Given the description of an element on the screen output the (x, y) to click on. 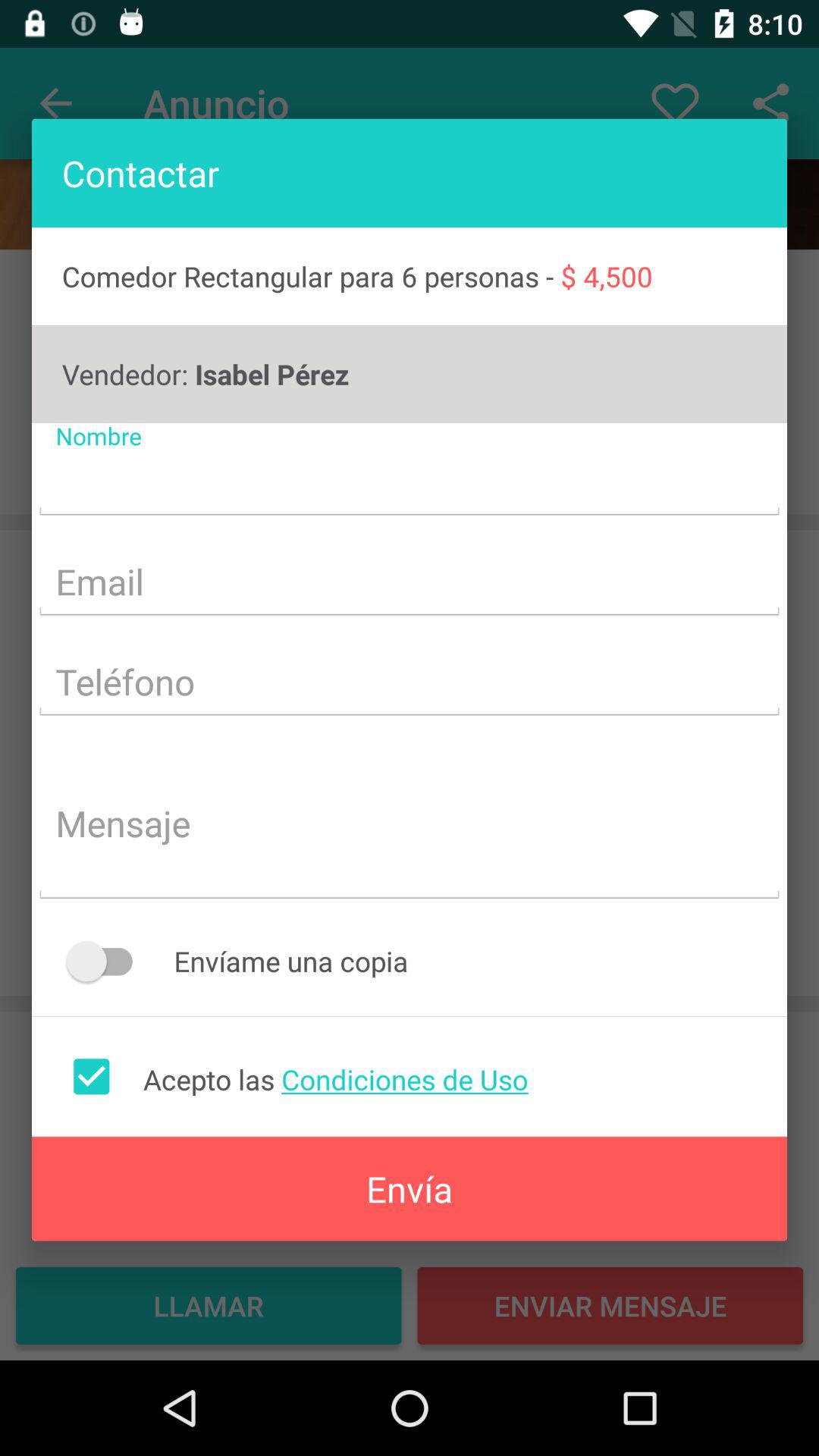
click to mesaje (409, 825)
